Given the description of an element on the screen output the (x, y) to click on. 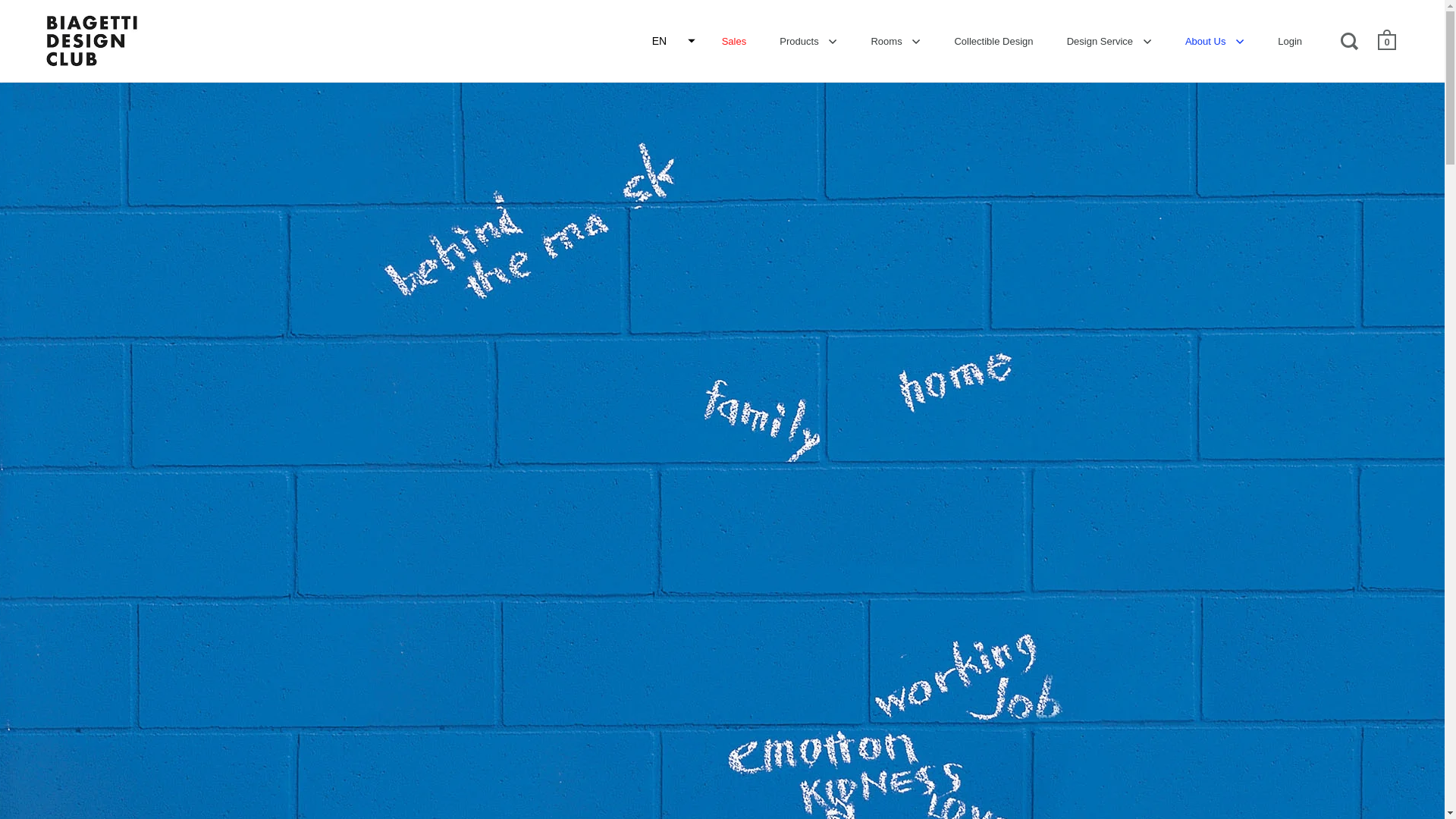
Rooms (896, 40)
Products (807, 40)
Sales (733, 40)
Design Service (1109, 40)
Open search (1350, 39)
Open cart (1387, 38)
Collectible Design (993, 40)
